Given the description of an element on the screen output the (x, y) to click on. 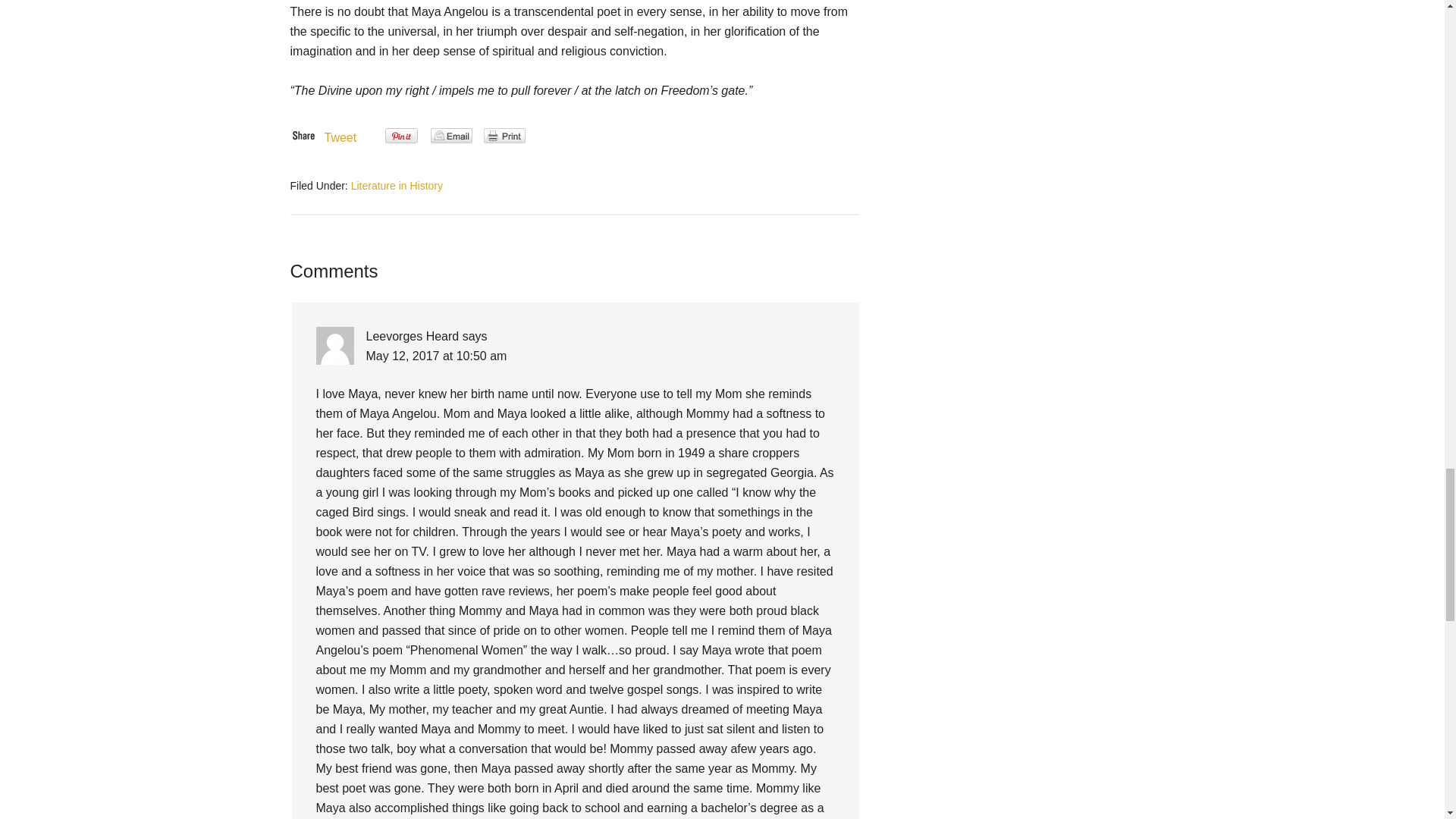
Print (504, 135)
Tweet (340, 137)
Pin It (401, 135)
Literature in History (396, 185)
May 12, 2017 at 10:50 am (435, 355)
Email (450, 135)
